Given the description of an element on the screen output the (x, y) to click on. 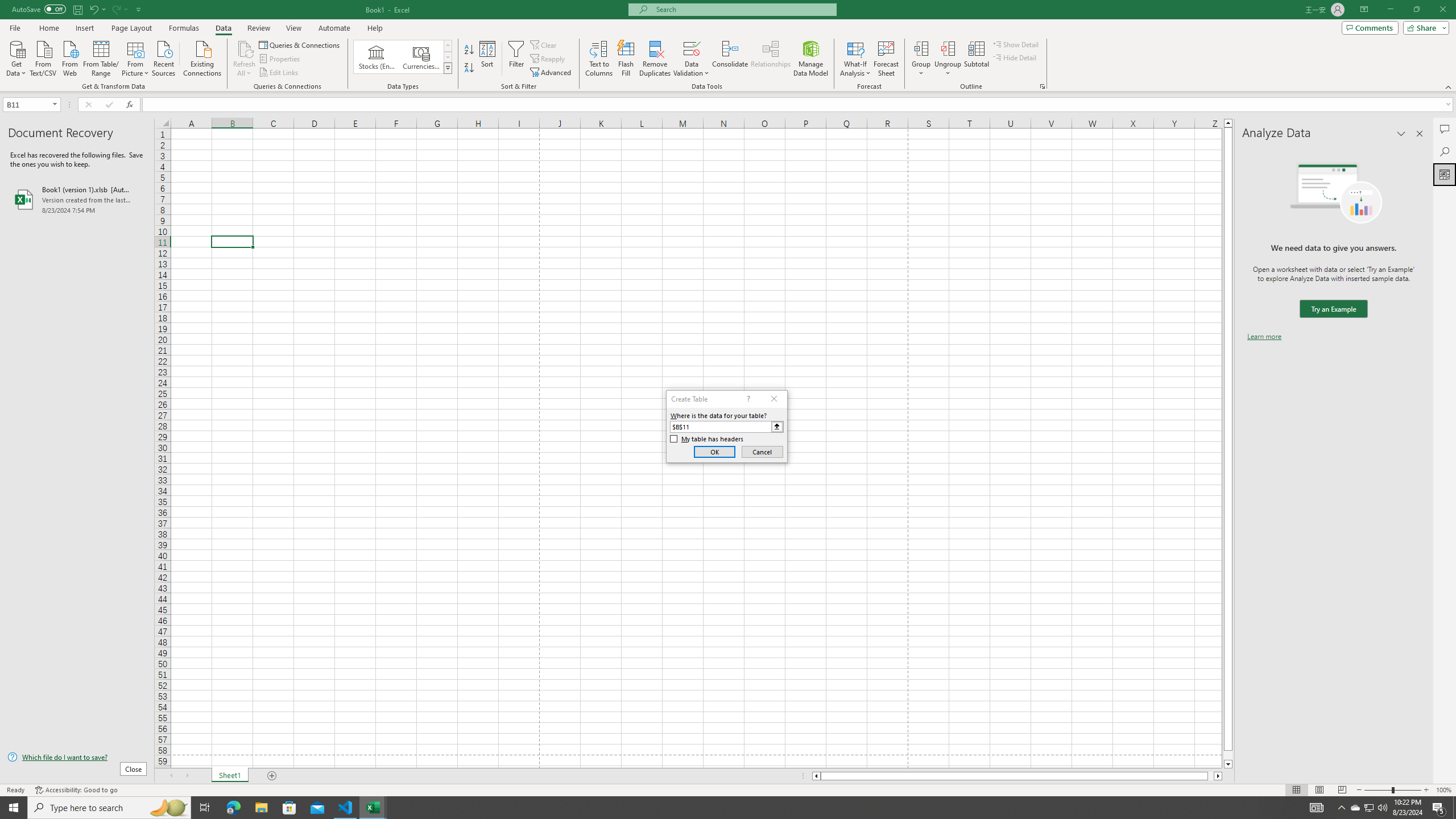
Currencies (English) (420, 56)
AutoSave (38, 9)
From Picture (135, 57)
Data (223, 28)
From Table/Range (100, 57)
Group and Outline Settings (1042, 85)
Share (1423, 27)
Scroll Right (187, 775)
Reapply (548, 58)
Row Down (448, 56)
Microsoft search (742, 9)
Row up (448, 45)
Data Validation... (691, 58)
